Given the description of an element on the screen output the (x, y) to click on. 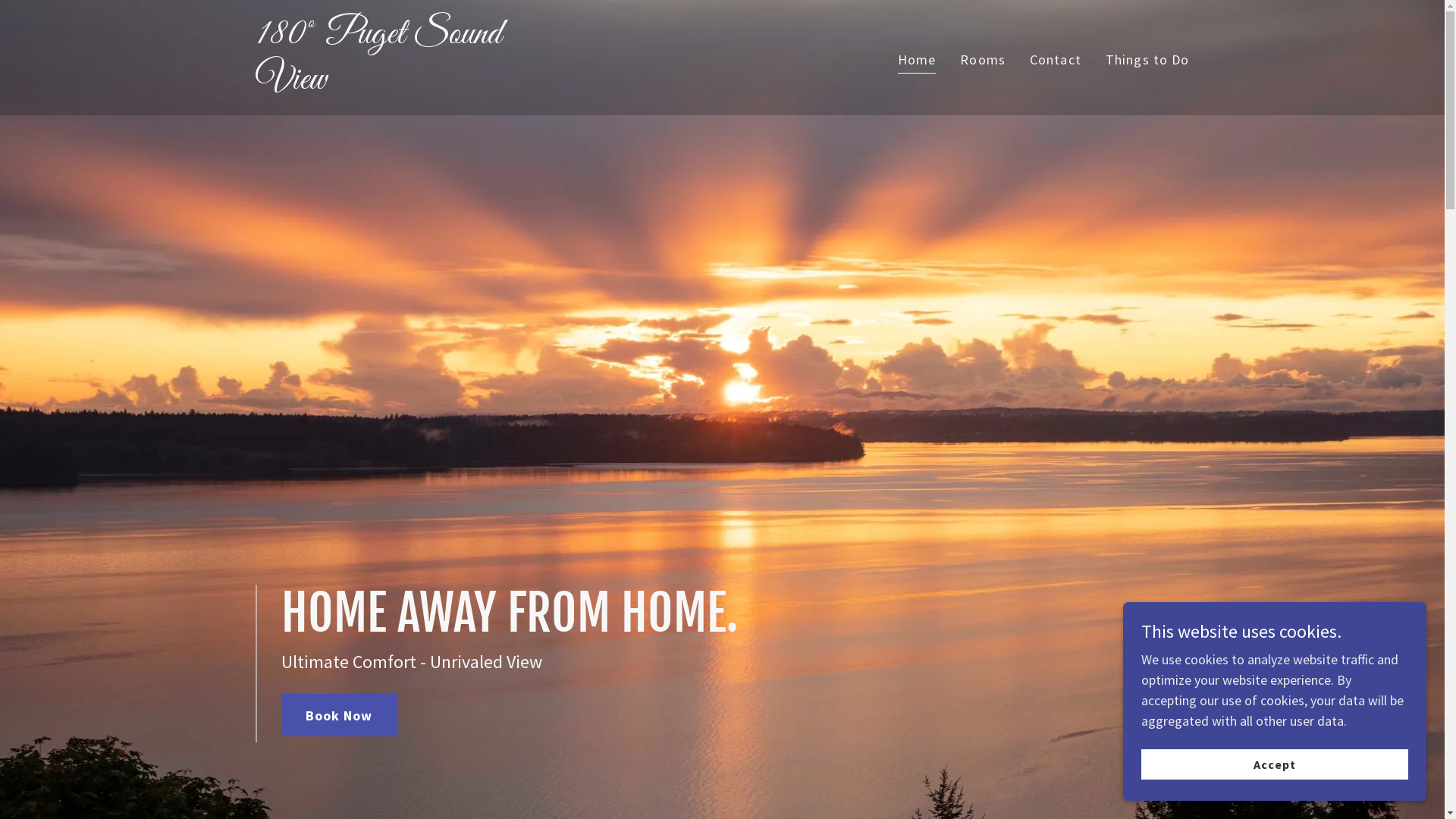
Rooms Element type: text (982, 59)
Home Element type: text (916, 61)
Contact Element type: text (1055, 59)
Accept Element type: text (1274, 764)
Things to Do Element type: text (1147, 59)
Book Now Element type: text (338, 714)
